Given the description of an element on the screen output the (x, y) to click on. 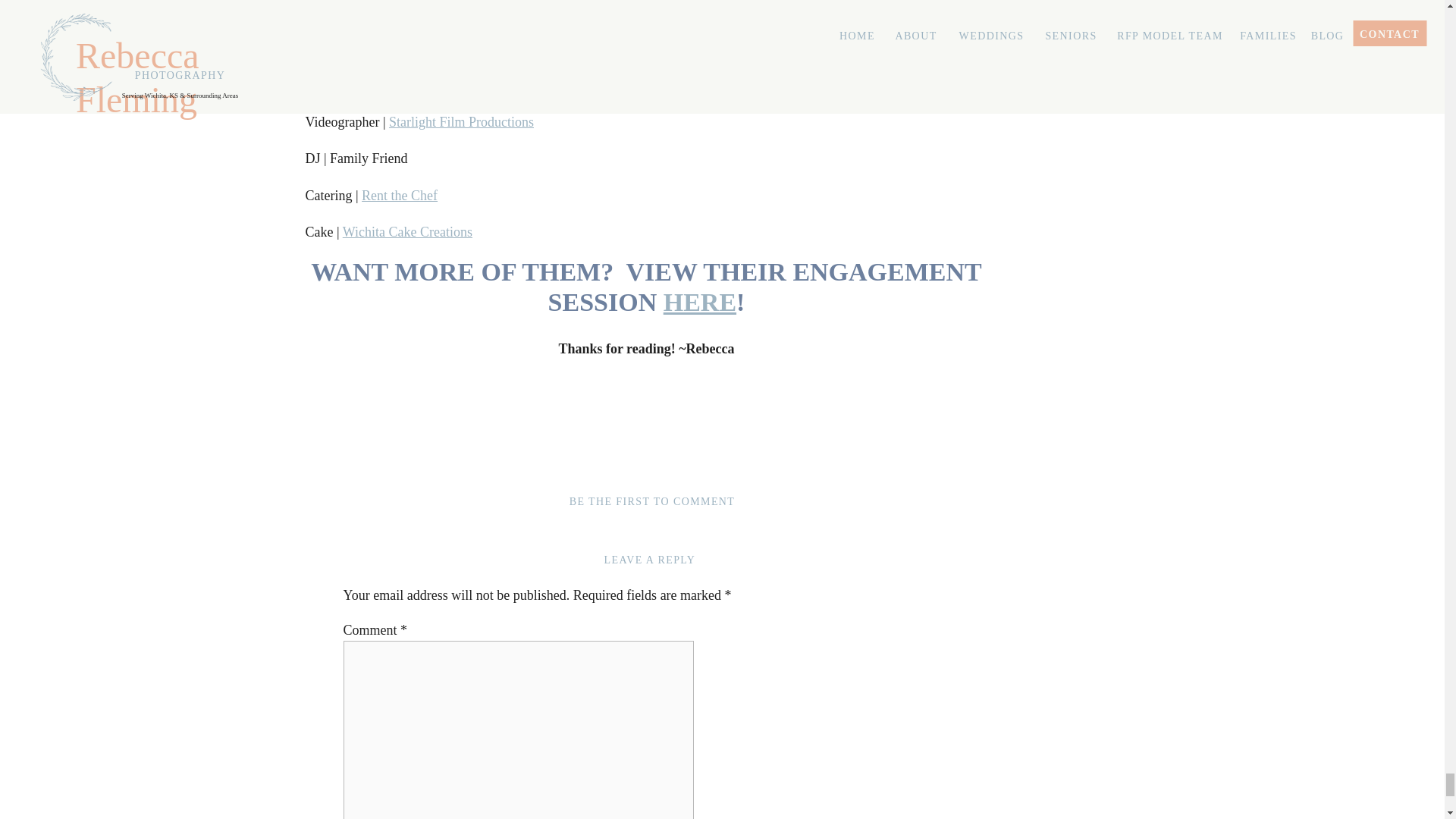
Rent the Chef (399, 195)
HERE (699, 302)
Dress Gallery (383, 11)
BE THE FIRST TO COMMENT (652, 501)
Starlight Film Productions (461, 121)
Wichita Cake Creations (406, 231)
Morilee (501, 11)
